Given the description of an element on the screen output the (x, y) to click on. 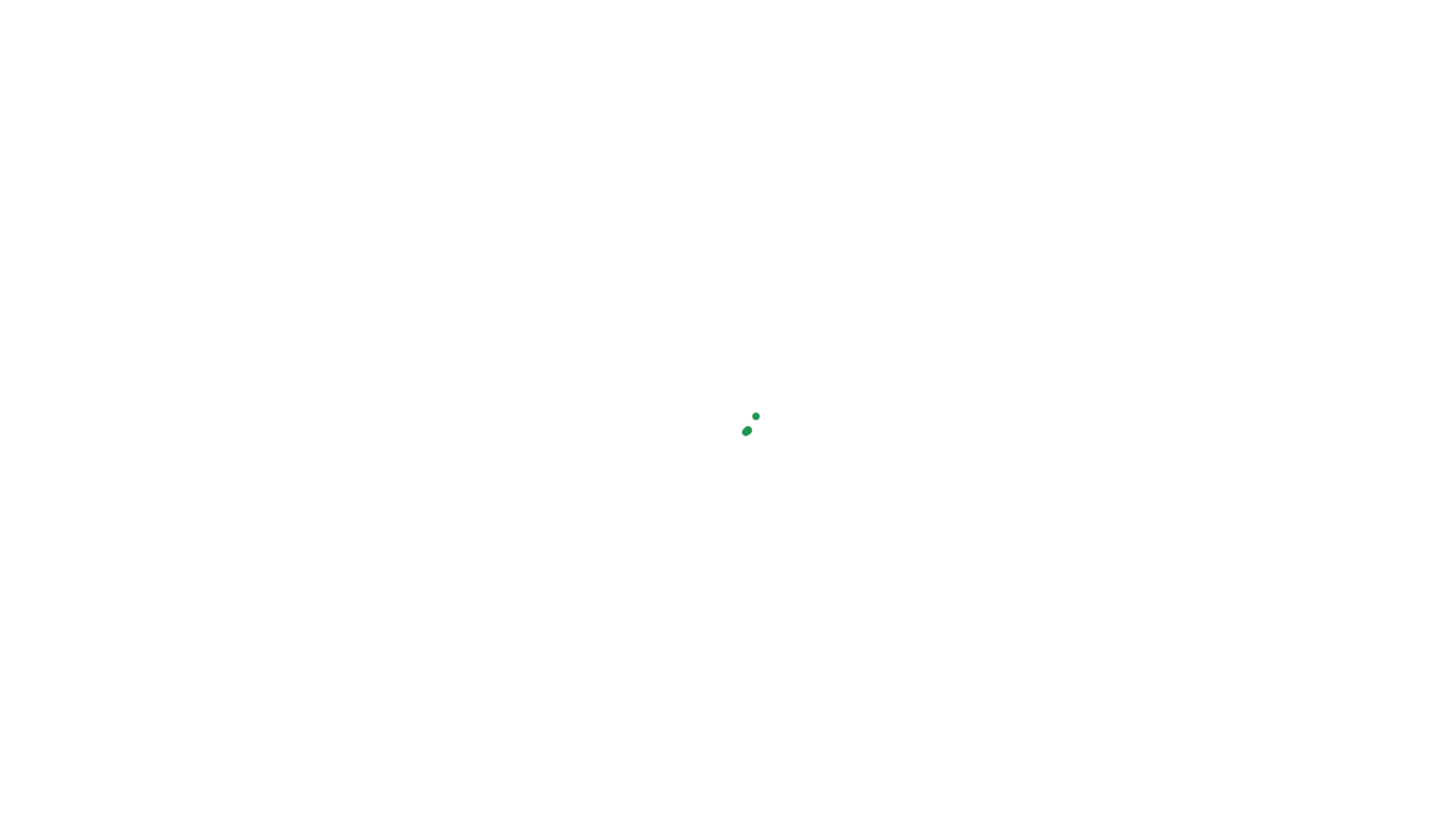
relaxsan_imag@mail.ru Element type: text (1152, 509)
+375 (29) 8226055 Element type: text (1141, 488)
+375 (29)
8226055 Element type: text (1146, 17)
Relaxsan Element type: hover (342, 64)
bredent group Element type: text (912, 471)
Relaxsan Element type: hover (338, 464)
femavi@gmail.com Element type: text (258, 611)
